Given the description of an element on the screen output the (x, y) to click on. 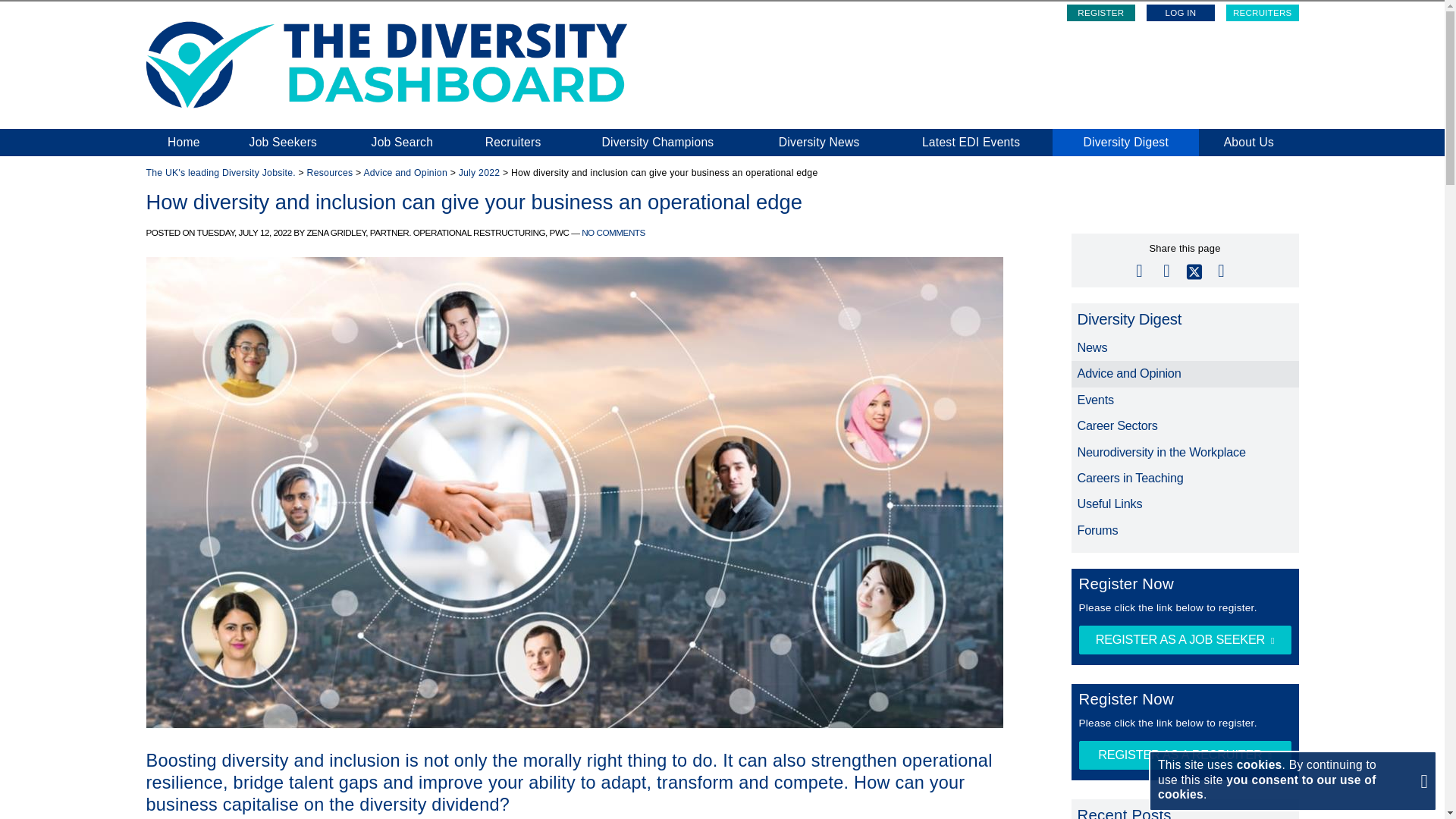
LOG IN (1180, 12)
Latest EDI Events (970, 142)
NO COMMENTS (612, 232)
Share via LinkedIn (1220, 268)
Resources (330, 172)
The UK's leading Diversity Jobsite. (220, 172)
Share via email (1138, 268)
Diversity Digest (1125, 142)
Job Seekers (282, 142)
Home (183, 142)
July 2022 (479, 172)
RECRUITERS (1261, 12)
Share via Facebook (1165, 268)
Diversity Champions (657, 142)
REGISTER (1101, 12)
